Given the description of an element on the screen output the (x, y) to click on. 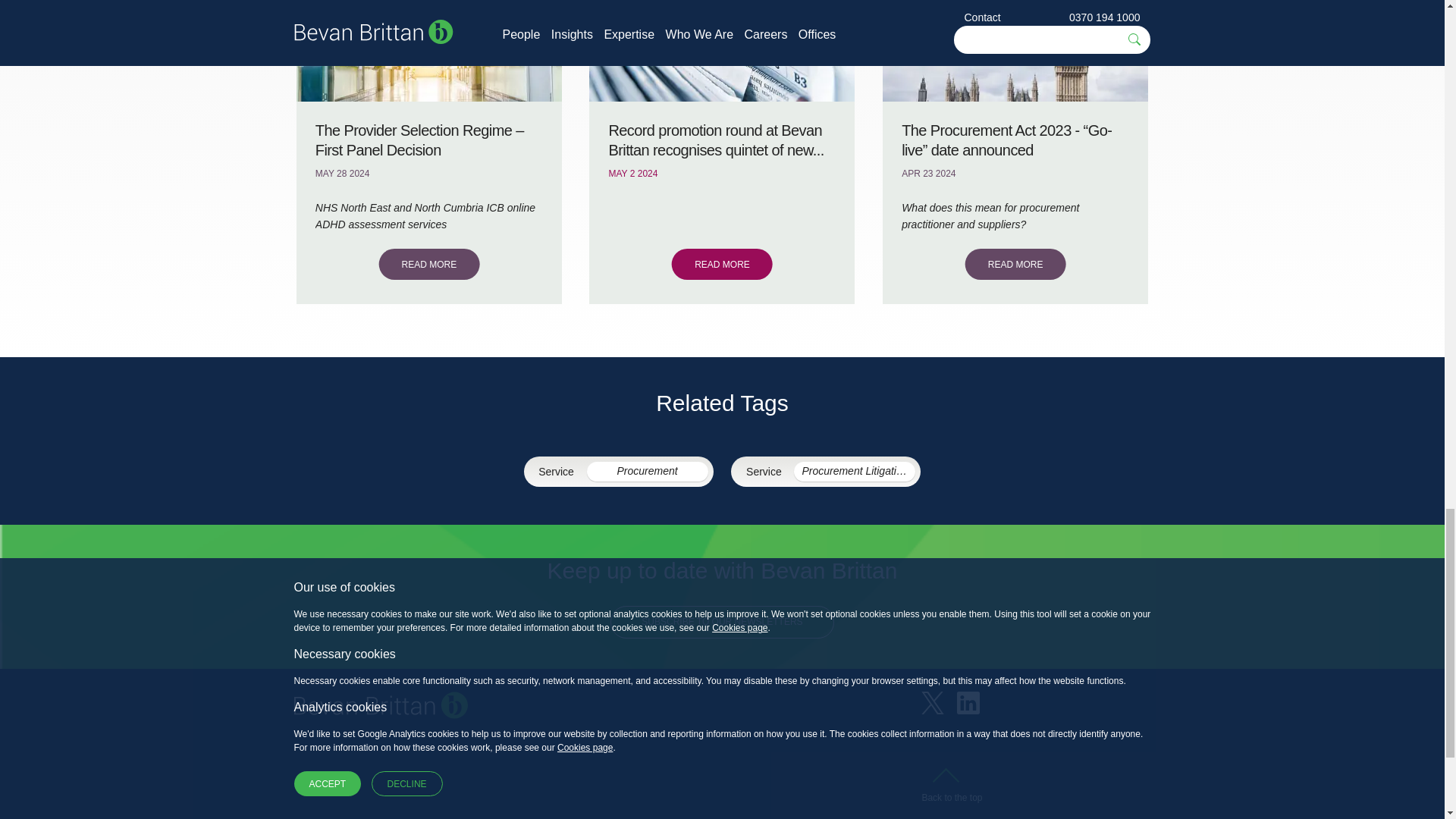
Procurement (646, 470)
Procurement Litigation (854, 470)
Back to the top (951, 788)
